Given the description of an element on the screen output the (x, y) to click on. 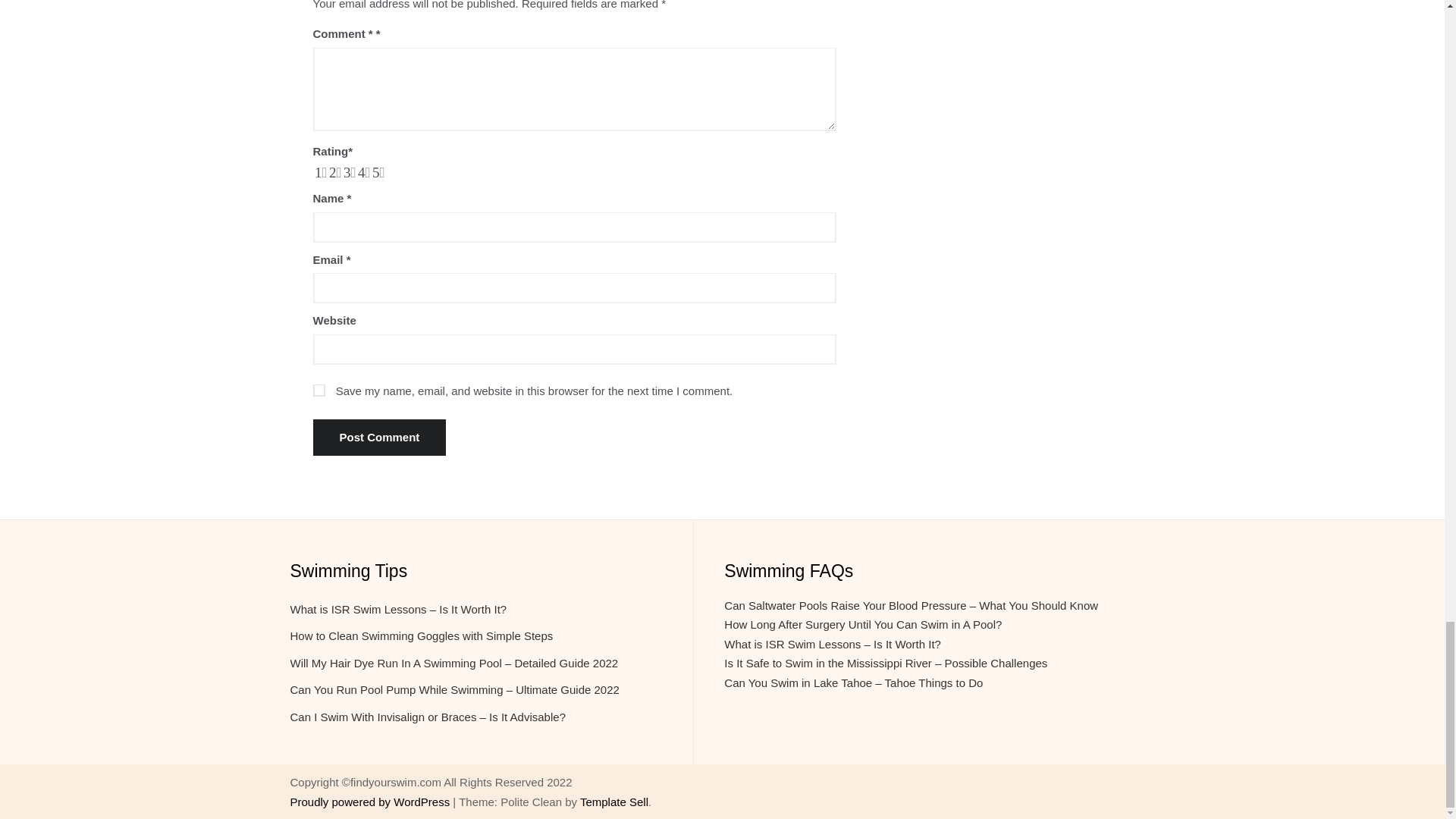
Post Comment (379, 437)
Post Comment (379, 437)
yes (318, 390)
